Given the description of an element on the screen output the (x, y) to click on. 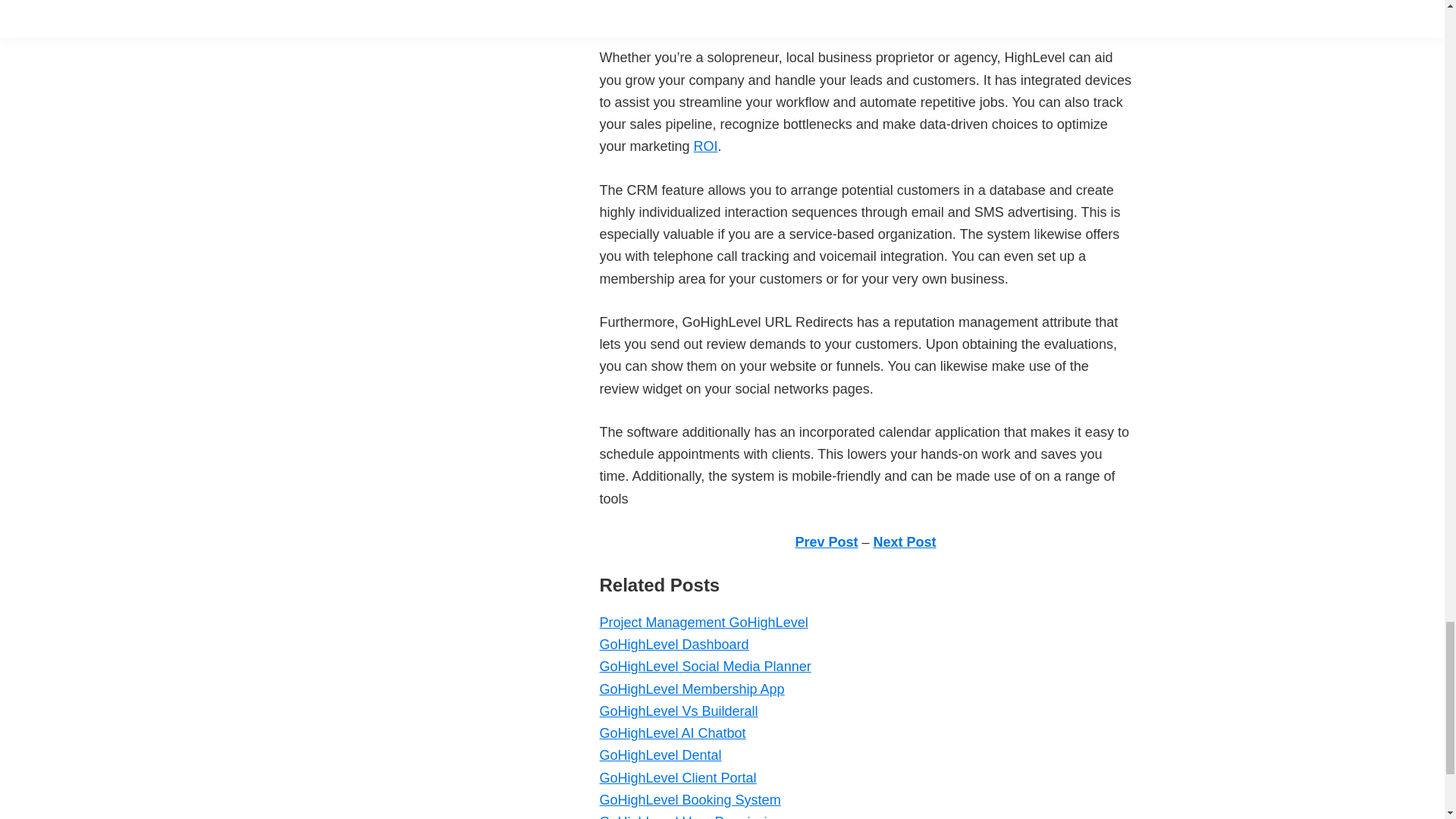
GoHighLevel AI Chatbot (671, 733)
GoHighLevel Membership App (691, 688)
GoHighLevel Client Portal (676, 777)
GoHighLevel User Permissions (693, 816)
Prev Post (825, 541)
Next Post (904, 541)
GoHighLevel Dental (659, 754)
GoHighLevel Dashboard (673, 644)
GoHighLevel Vs Builderall (677, 711)
GoHighLevel Booking System (689, 799)
GoHighLevel Dashboard (673, 644)
GoHighLevel Client Portal (676, 777)
GoHighLevel Booking System (689, 799)
GoHighLevel Vs Builderall (677, 711)
GoHighLevel Social Media Planner (704, 666)
